Given the description of an element on the screen output the (x, y) to click on. 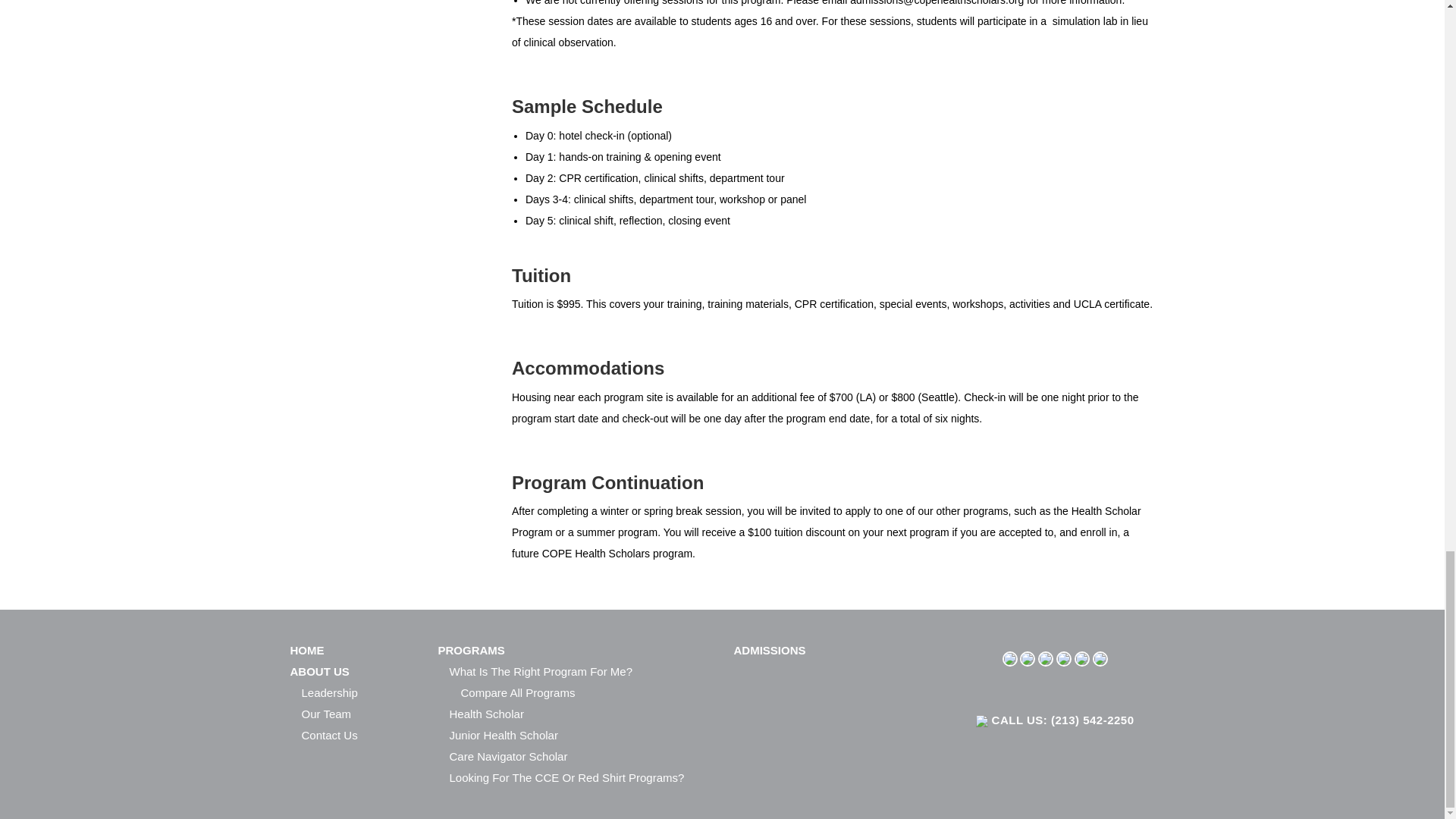
glassdoor (1100, 657)
youtube (1064, 657)
WordPress Video Lightbox Plugin (78, 616)
twitter (1027, 657)
instagram (1081, 657)
facebook (1010, 657)
linkedin (1045, 657)
